Given the description of an element on the screen output the (x, y) to click on. 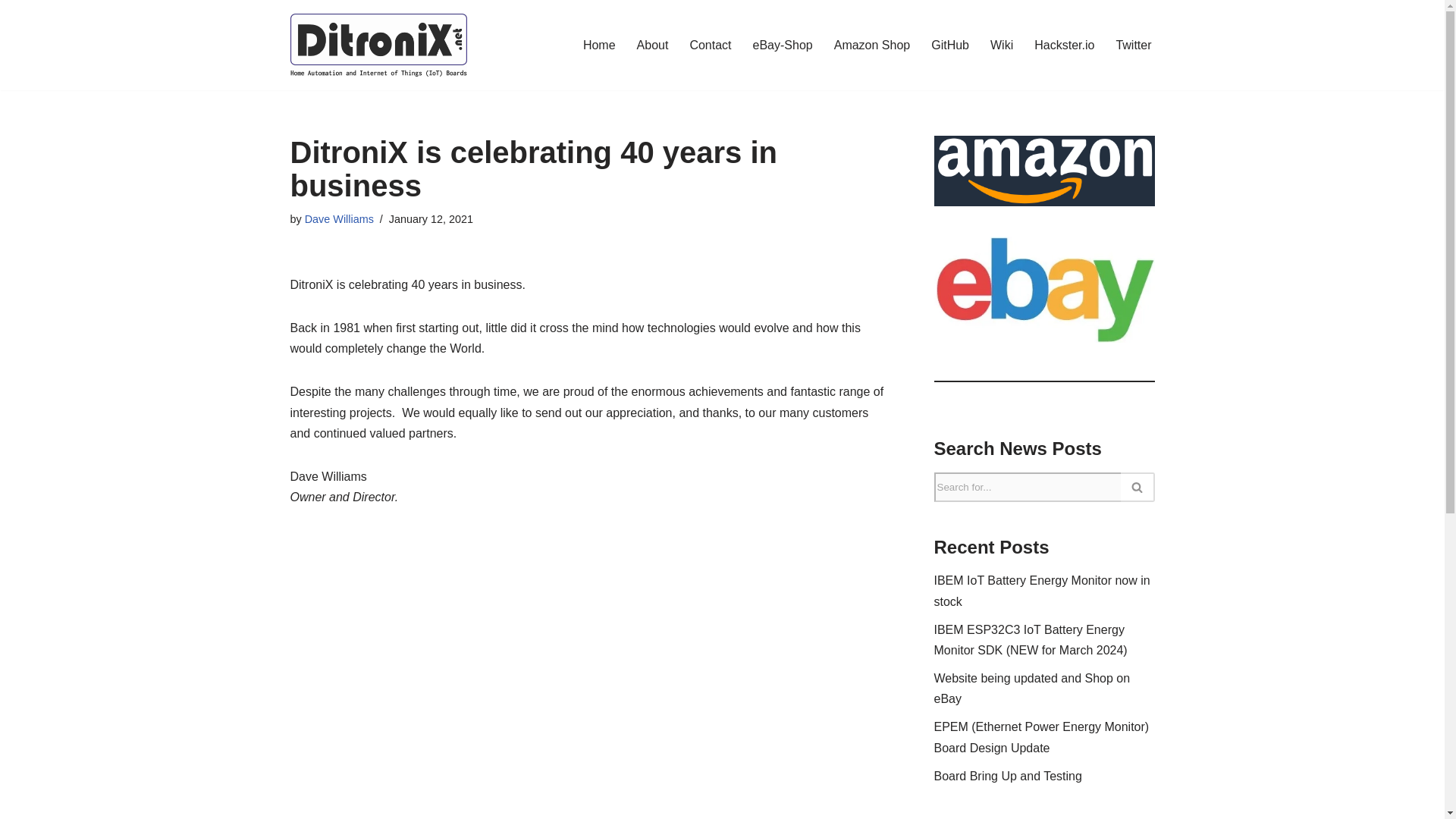
Skip to content (11, 31)
About (652, 45)
Board Bring Up and Testing (1007, 775)
Twitter (1133, 45)
Contact (709, 45)
eBay-Shop (782, 45)
Amazon Shop (872, 45)
Posts by Dave Williams (339, 218)
Website being updated and Shop on eBay (1032, 688)
Wiki (1001, 45)
GitHub (950, 45)
IBEM IoT Battery Energy Monitor now in stock (1042, 590)
Hackster.io (1063, 45)
Dave Williams (339, 218)
Home (599, 45)
